Given the description of an element on the screen output the (x, y) to click on. 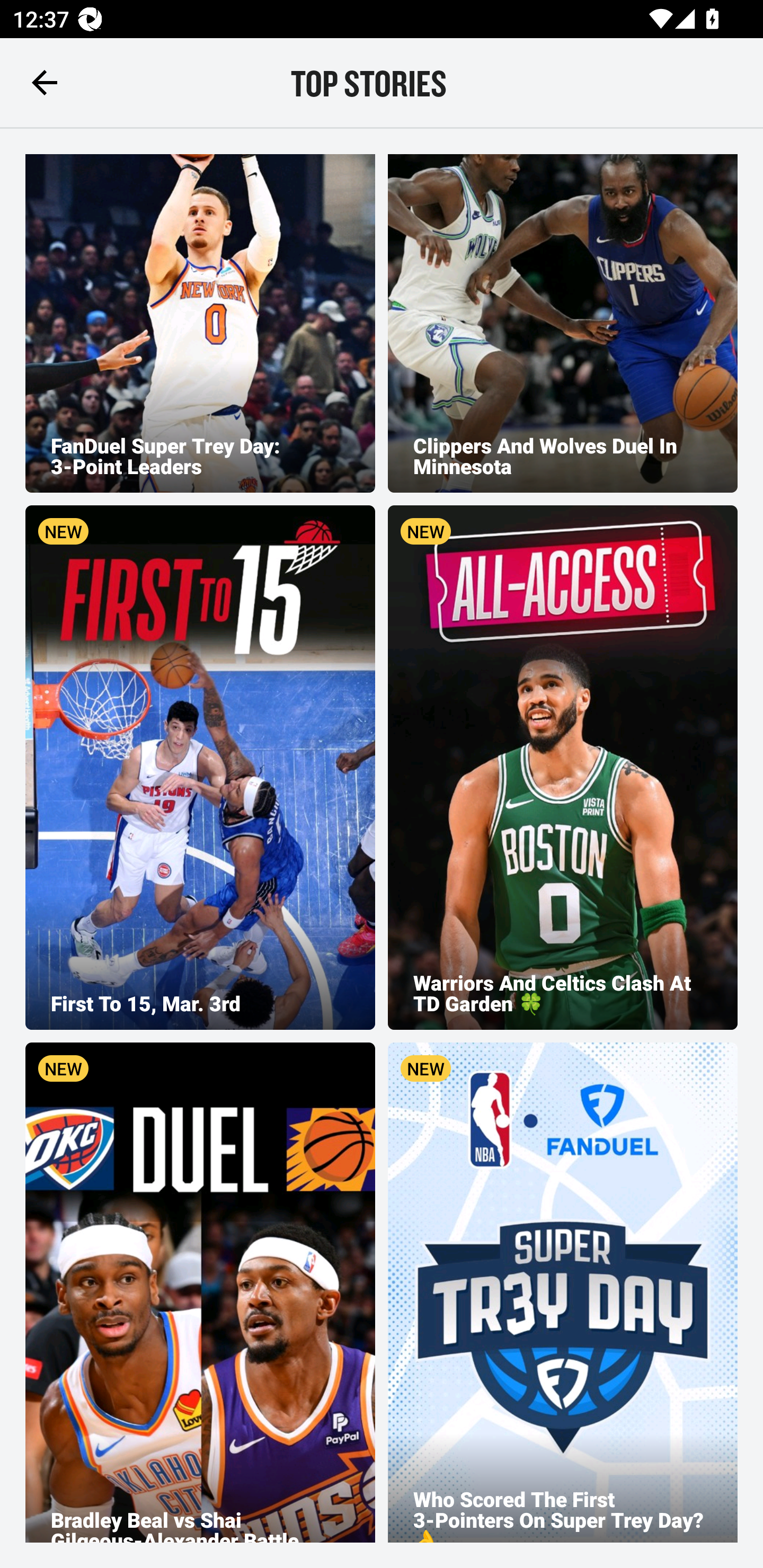
Navigate up (44, 82)
FanDuel Super Trey Day: 3-Point Leaders (200, 322)
Clippers And Wolves Duel In Minnesota (562, 322)
NEW First To 15, Mar. 3rd (200, 767)
NEW Warriors And Celtics Clash At TD Garden 🍀 (562, 767)
NEW Bradley Beal vs Shai Gilgeous-Alexander Battle (200, 1292)
